Given the description of an element on the screen output the (x, y) to click on. 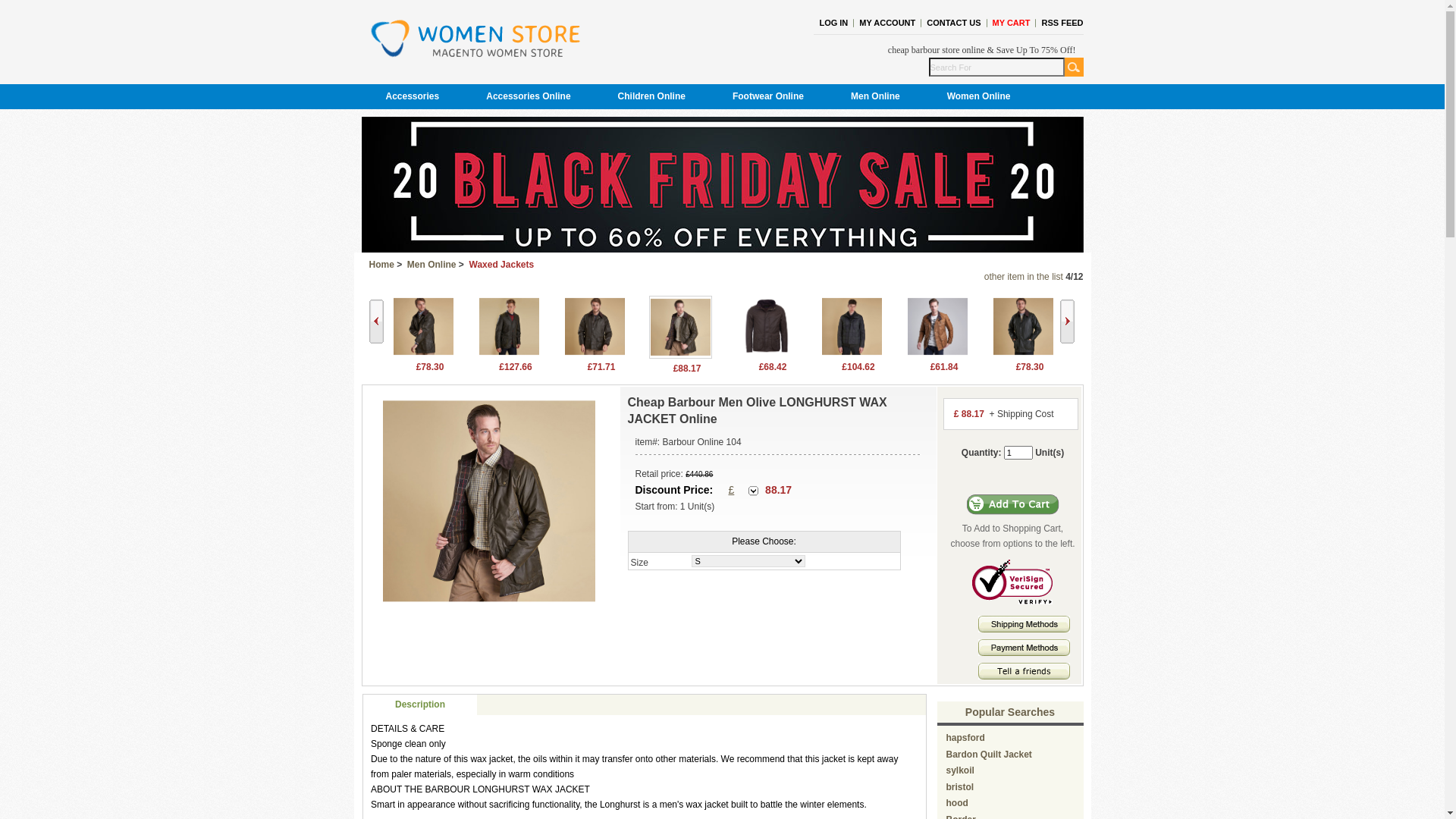
 Tell A Friends  Element type: hover (1024, 670)
MY ACCOUNT Element type: text (887, 22)
 Cheap Barbour Men Olive LONGHURST WAX JACKET Online  Element type: hover (489, 501)
Cheap Barbour Men Olive CLASSIC BEAUFORT WAX JACKET Online Element type: hover (423, 326)
Women Online Element type: text (978, 96)
Back Element type: hover (375, 321)
Accessories Element type: text (411, 96)
Cheap Barbour Men Peat PORTAL WAX JACKET Online Element type: hover (766, 326)
Add to Cart Element type: hover (1012, 504)
Next Element type: hover (1067, 321)
hood Element type: text (957, 802)
Cheap Barbour Men Olive LONGHURST WAX JACKET Online Element type: hover (680, 355)
Cheap Barbour Men Sage BEAUFORT WAX JACKET Online Element type: hover (1022, 326)
CONTACT US Element type: text (953, 22)
Cheap Barbour Men Tan B.INTL DUKE WAX JACKET Online Element type: hover (937, 326)
Cheap Barbour Men Sage BEAUFORT WAX JACKET Online Element type: hover (1022, 353)
MY CART Element type: text (1011, 22)
GO Element type: text (1073, 66)
Shipping Methods Element type: hover (1024, 629)
bristol Element type: text (960, 786)
Cheap Barbour Men Olive BEACON SPORTS WAX JACKET Online Element type: hover (508, 353)
black friday barbour Element type: hover (721, 249)
 Payment Methods  Element type: hover (1024, 647)
Accessories Online Element type: text (528, 96)
Children Online Element type: text (651, 96)
Cheap Barbour Men Olive BEACON SPORTS WAX JACKET Online Element type: hover (508, 326)
Cheap Barbour Men Olive LONGHURST WAX JACKET Online Element type: hover (680, 326)
LOG IN Element type: text (833, 22)
other item in the list Element type: text (1023, 276)
Cheap Barbour Men Olive CLASSIC BEDALE WAX JACKET Online Element type: hover (594, 353)
Cheap Barbour Men Olive CLASSIC BEAUFORT WAX JACKET Online Element type: hover (423, 353)
 Shipping Methods  Element type: hover (1024, 623)
Payment methods Element type: hover (1024, 652)
Cheap Barbour Men Peat PORTAL WAX JACKET Online Element type: hover (766, 353)
Popular Searches Element type: text (1009, 712)
sylkoil Element type: text (960, 770)
Bardon Quilt Jacket Element type: text (989, 754)
RSS FEED Element type: text (1061, 22)
 barbour online  Element type: hover (474, 38)
Home Element type: text (380, 264)
Cheap Barbour Men Olive CLASSIC BEDALE WAX JACKET Online Element type: hover (594, 326)
Footwear Online Element type: text (767, 96)
Waxed Jackets Element type: text (501, 264)
Men Online Element type: text (431, 264)
Cheap Barbour Men Tan B.INTL DUKE WAX JACKET Online Element type: hover (937, 353)
hapsford Element type: text (965, 737)
Men Online Element type: text (875, 96)
